Given the description of an element on the screen output the (x, y) to click on. 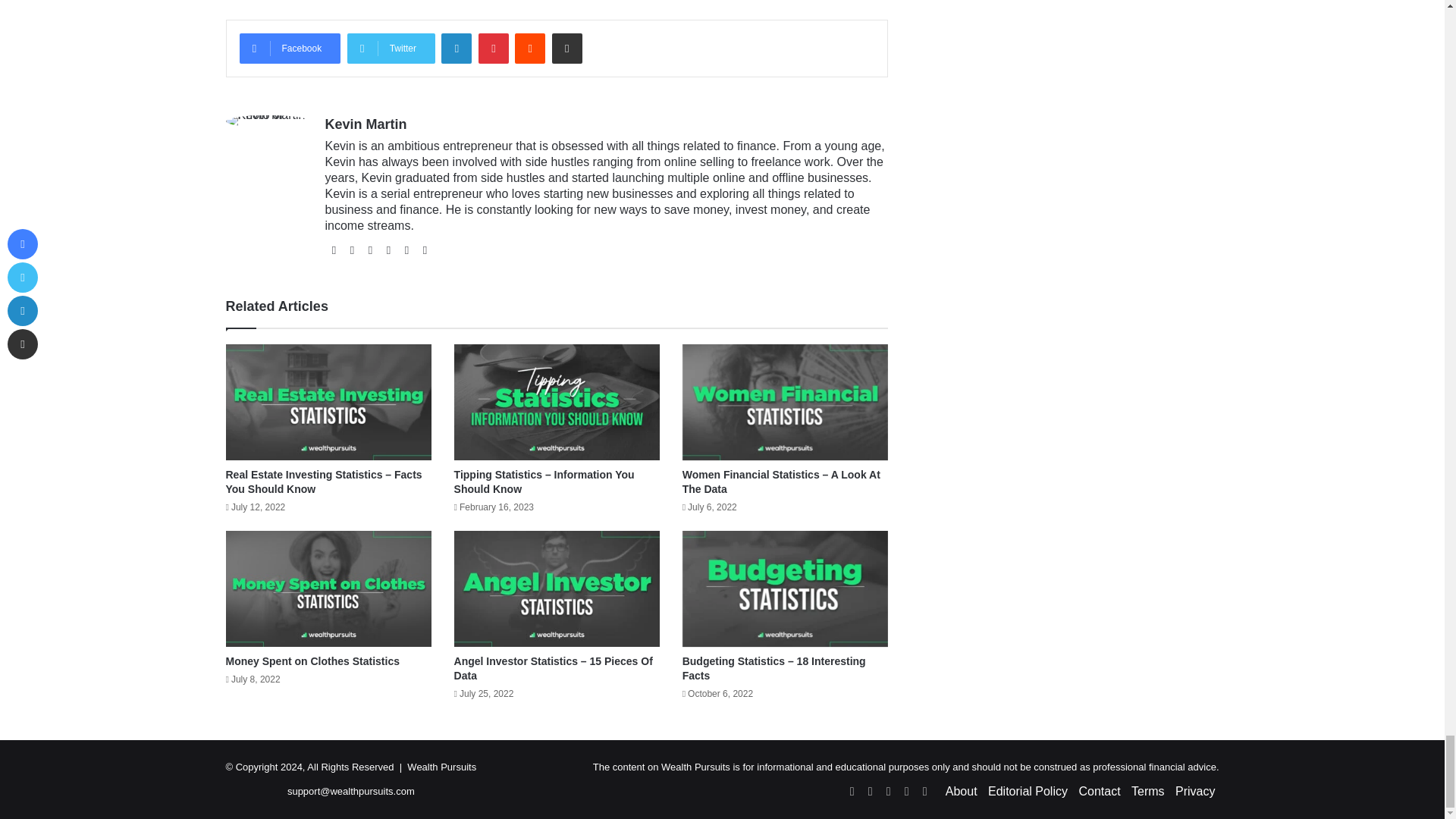
Twitter (391, 48)
Share via Email (566, 48)
Reddit (529, 48)
Facebook (290, 48)
LinkedIn (456, 48)
Pinterest (493, 48)
